Given the description of an element on the screen output the (x, y) to click on. 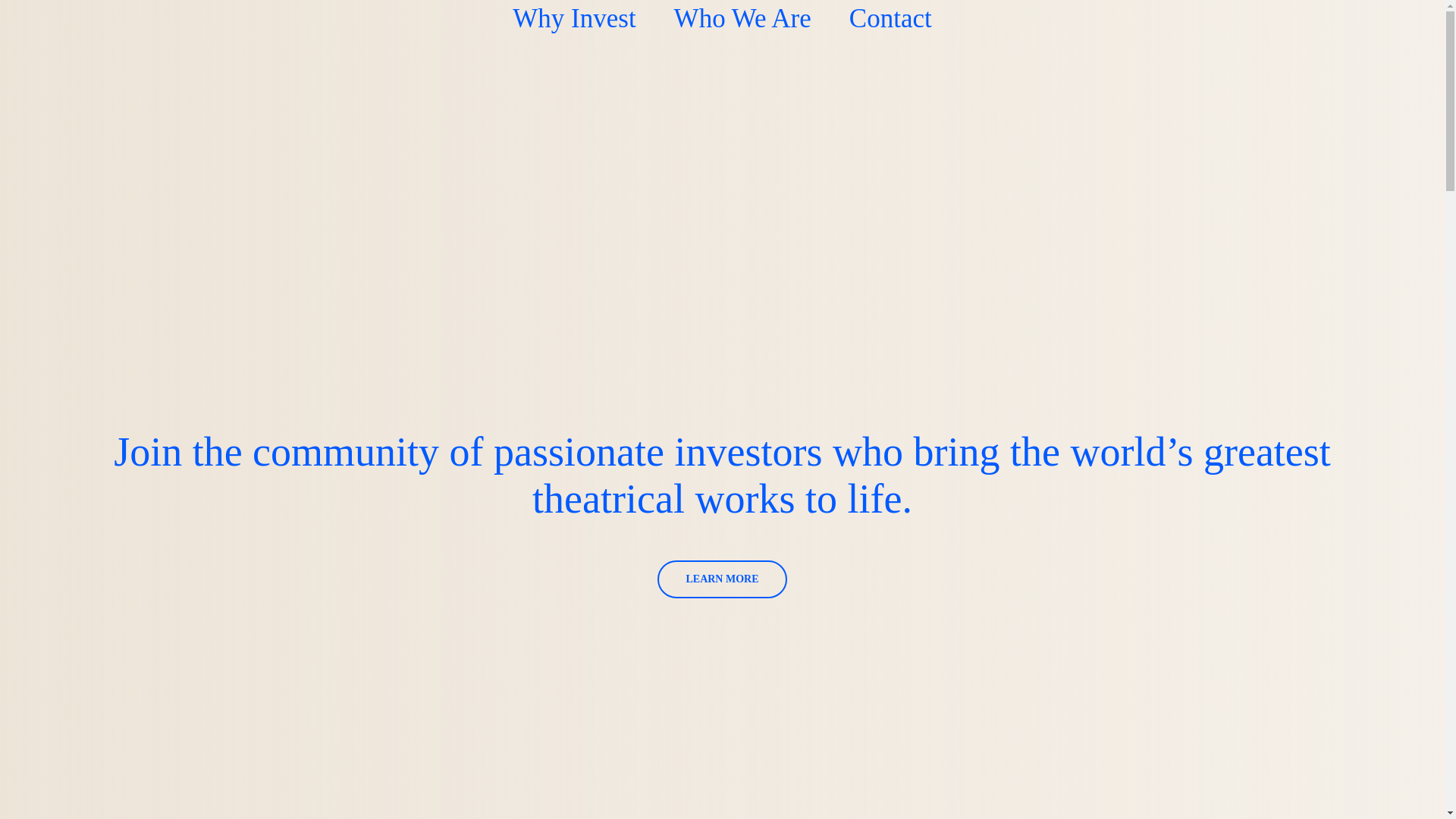
Contact (889, 18)
Who We Are (742, 18)
Why Invest (573, 18)
LEARN MORE (722, 579)
